Given the description of an element on the screen output the (x, y) to click on. 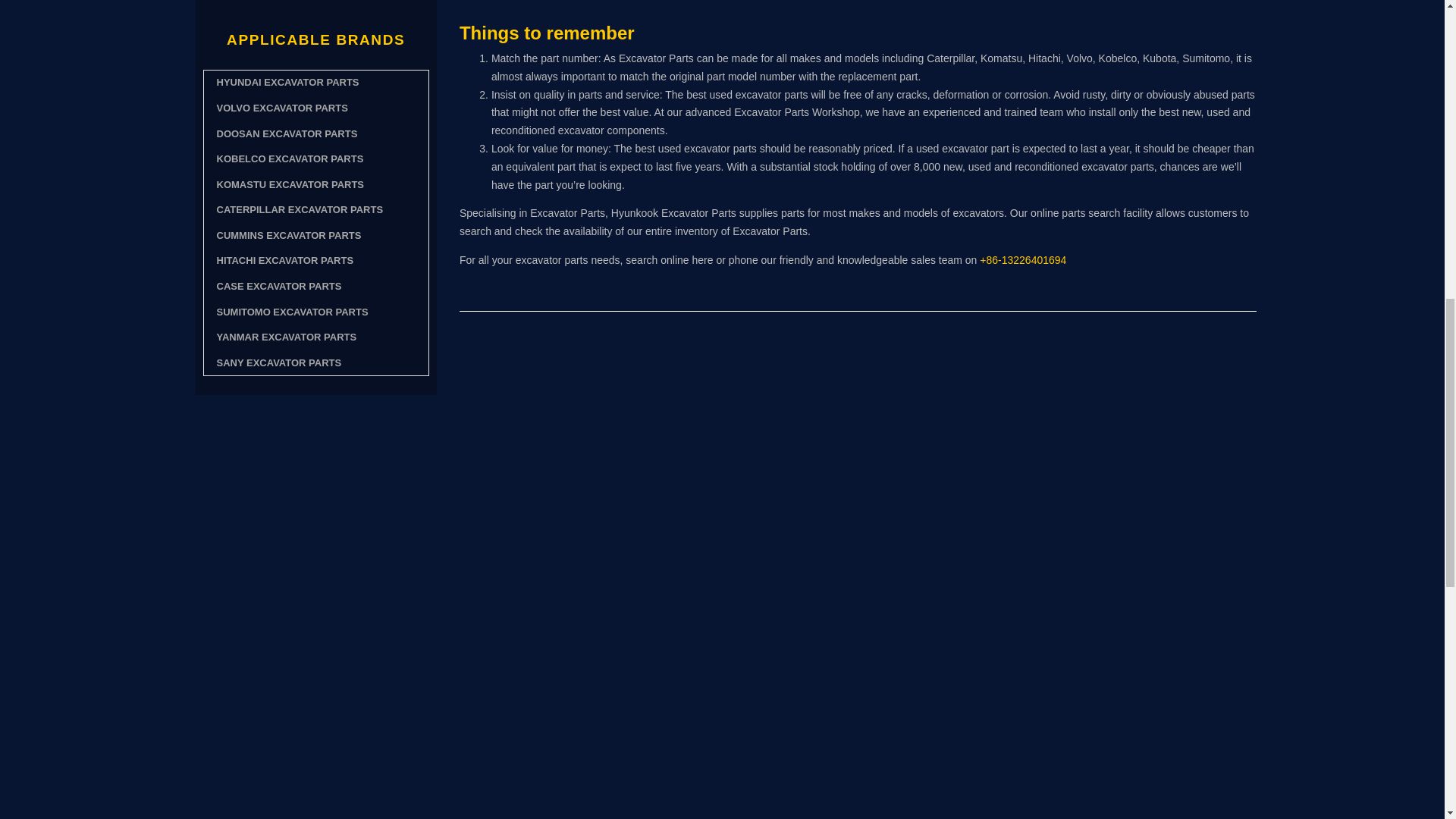
wildNeedAQuote (316, 793)
Wholesale-Prices (316, 695)
Products-Manual (316, 573)
